Given the description of an element on the screen output the (x, y) to click on. 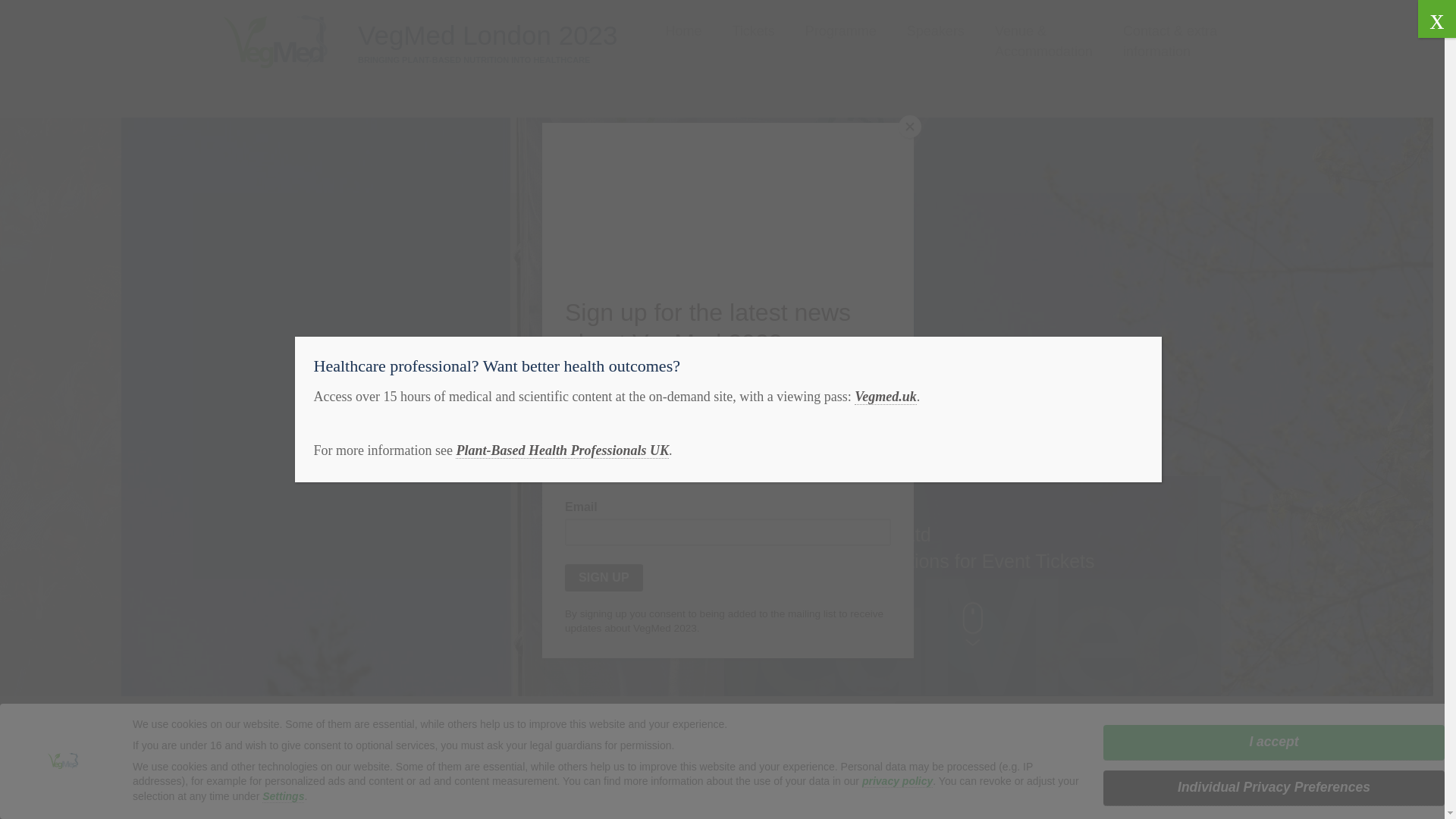
Tickets (753, 31)
Plant-Based Health Professionals UK (561, 450)
Programme (840, 31)
privacy policy (897, 780)
Speakers (935, 31)
Vegmed.uk (885, 396)
Home (683, 31)
